Given the description of an element on the screen output the (x, y) to click on. 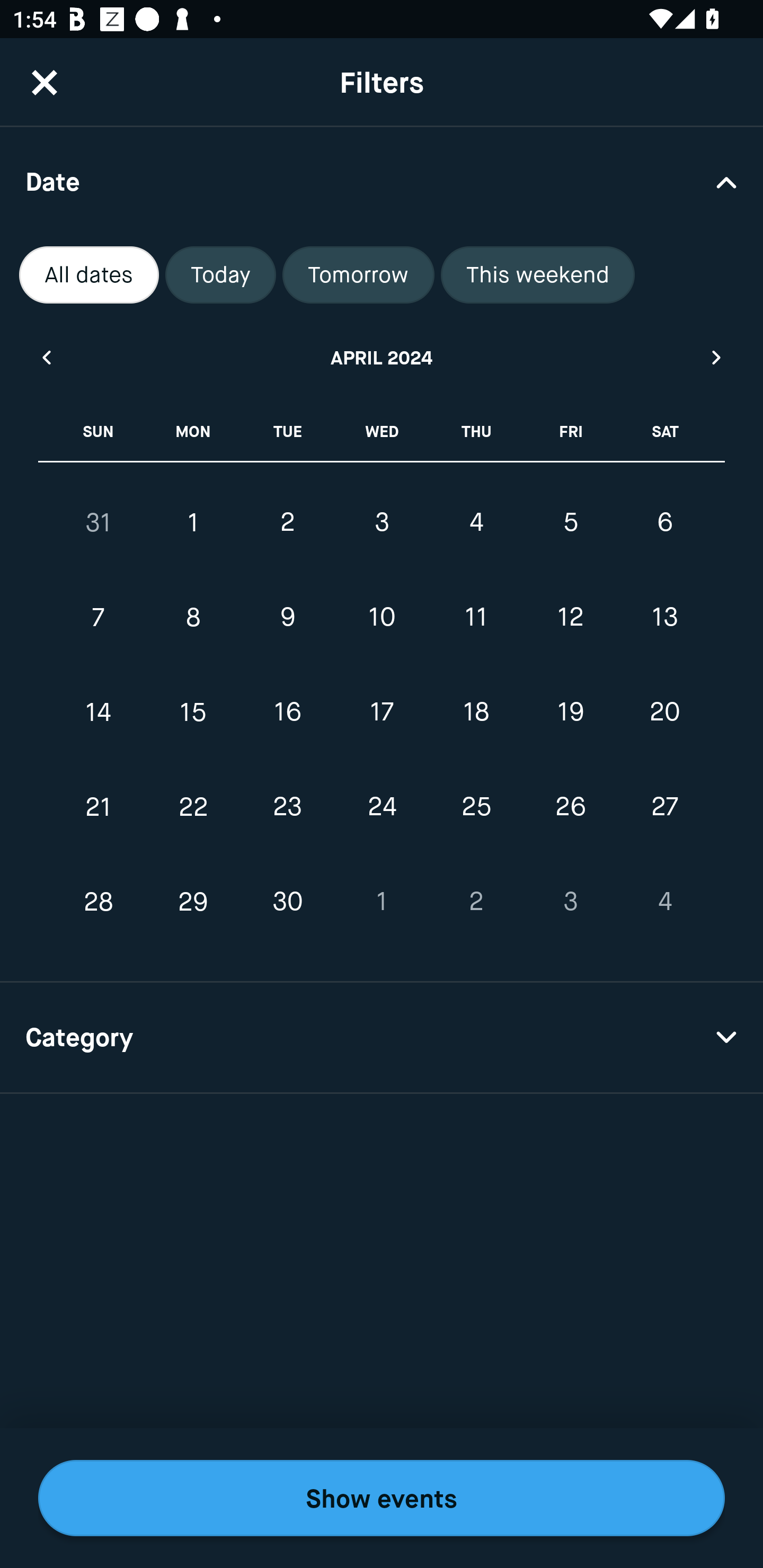
CloseButton (44, 82)
Date Drop Down Arrow (381, 181)
All dates (88, 274)
Today (220, 274)
Tomorrow (358, 274)
This weekend (537, 274)
Previous (45, 357)
Next (717, 357)
31 (98, 522)
1 (192, 522)
2 (287, 522)
3 (381, 522)
4 (475, 522)
5 (570, 522)
6 (664, 522)
7 (98, 617)
8 (192, 617)
9 (287, 617)
10 (381, 617)
11 (475, 617)
12 (570, 617)
13 (664, 617)
14 (98, 711)
15 (192, 711)
16 (287, 711)
17 (381, 711)
18 (475, 711)
19 (570, 711)
20 (664, 711)
21 (98, 806)
22 (192, 806)
23 (287, 806)
24 (381, 806)
25 (475, 806)
26 (570, 806)
27 (664, 806)
28 (98, 901)
29 (192, 901)
30 (287, 901)
1 (381, 901)
2 (475, 901)
3 (570, 901)
4 (664, 901)
Category Drop Down Arrow (381, 1038)
Show events (381, 1497)
